Given the description of an element on the screen output the (x, y) to click on. 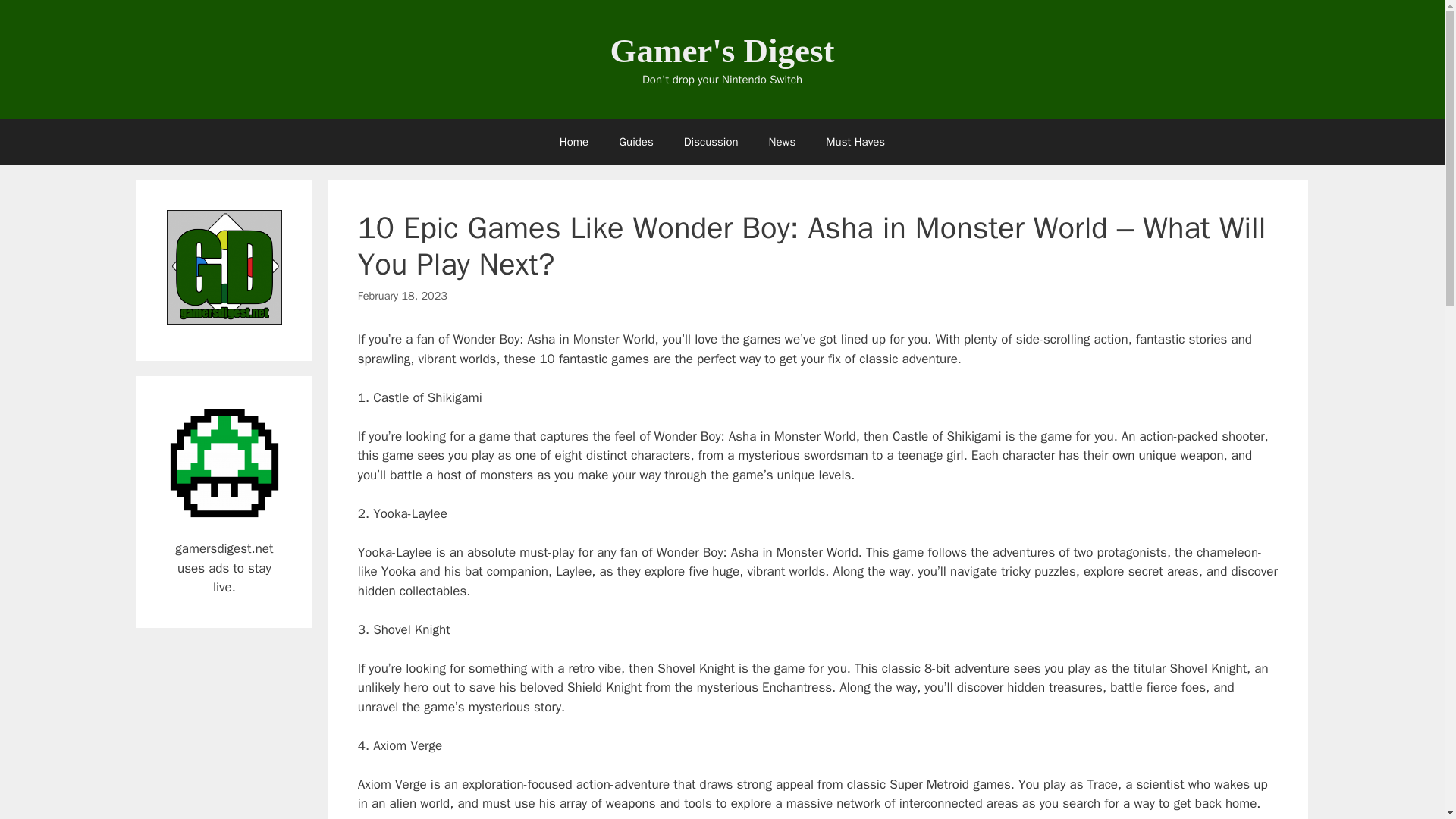
News (782, 140)
February 18, 2023 (402, 295)
3:01 pm (402, 295)
Must Haves (854, 140)
Guides (636, 140)
Gamer's Digest (722, 50)
Discussion (711, 140)
Home (574, 140)
